Given the description of an element on the screen output the (x, y) to click on. 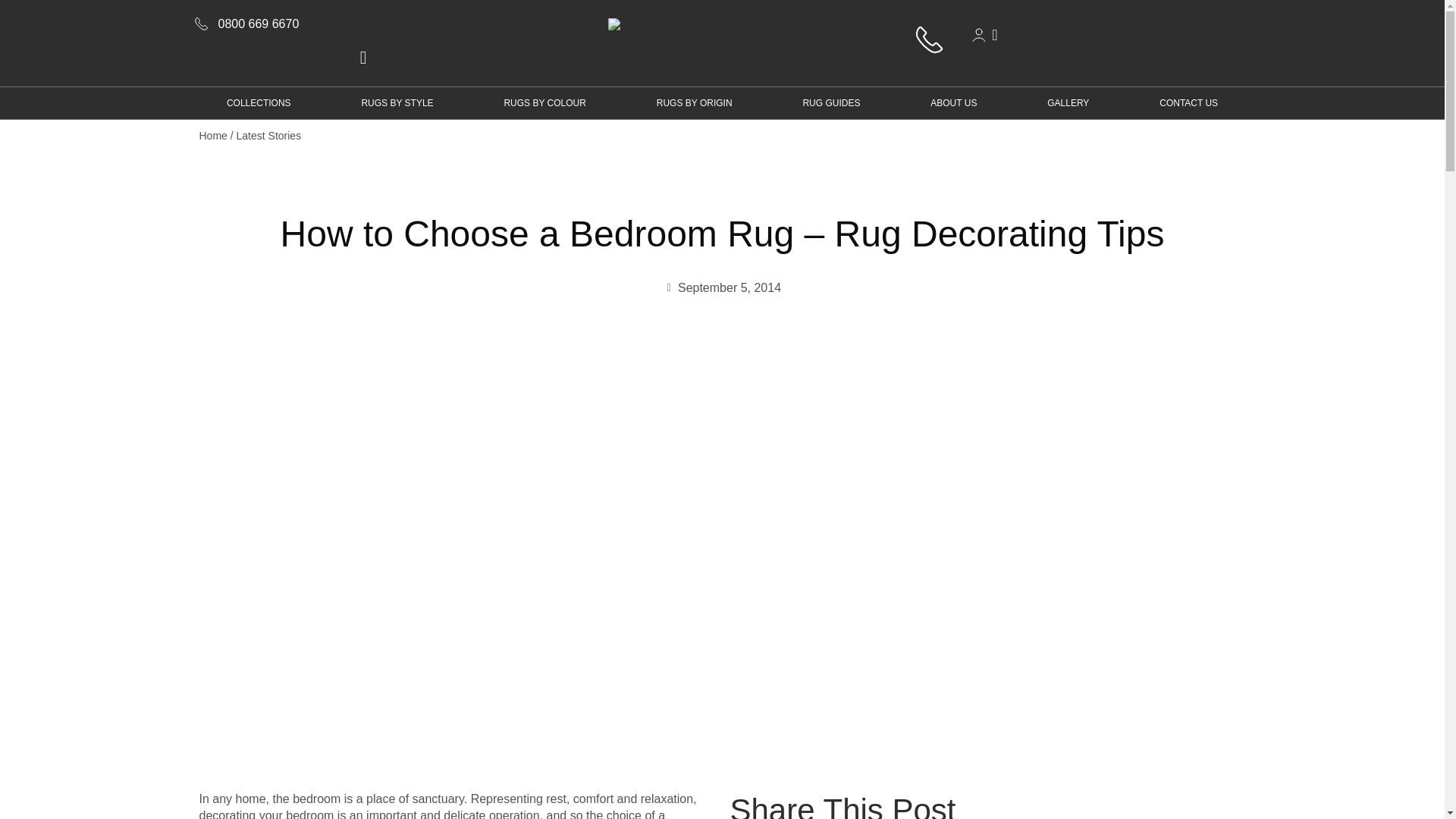
0800 669 6670 (362, 24)
RUGS BY STYLE (397, 102)
COLLECTIONS (258, 102)
